Given the description of an element on the screen output the (x, y) to click on. 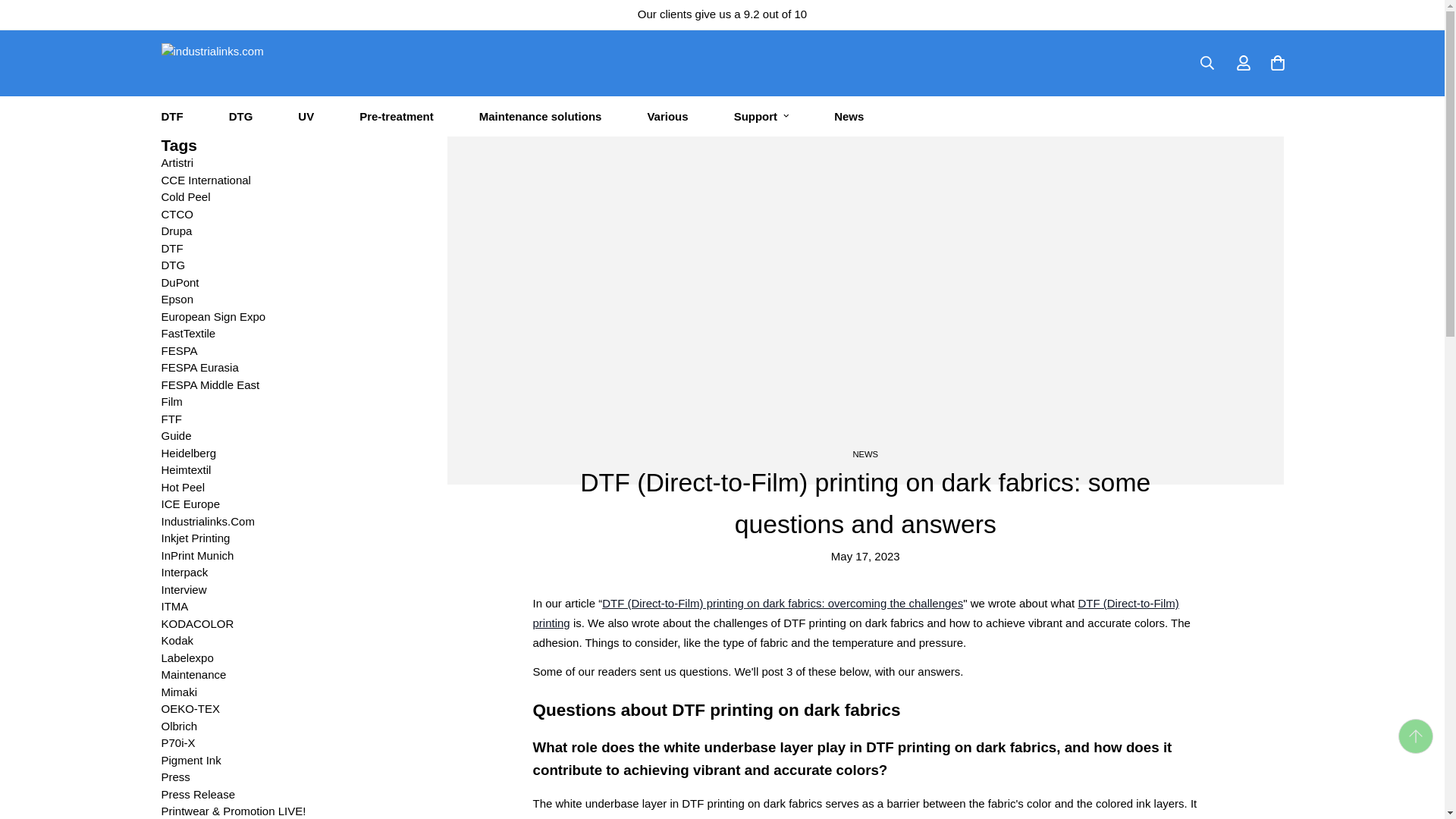
News (848, 116)
Pre-treatment (396, 116)
industrialinks.com (243, 63)
DTF (171, 116)
Support (761, 116)
UV (305, 116)
Maintenance solutions (540, 116)
DTF ink and supplies by industrialinks.com (854, 613)
